Given the description of an element on the screen output the (x, y) to click on. 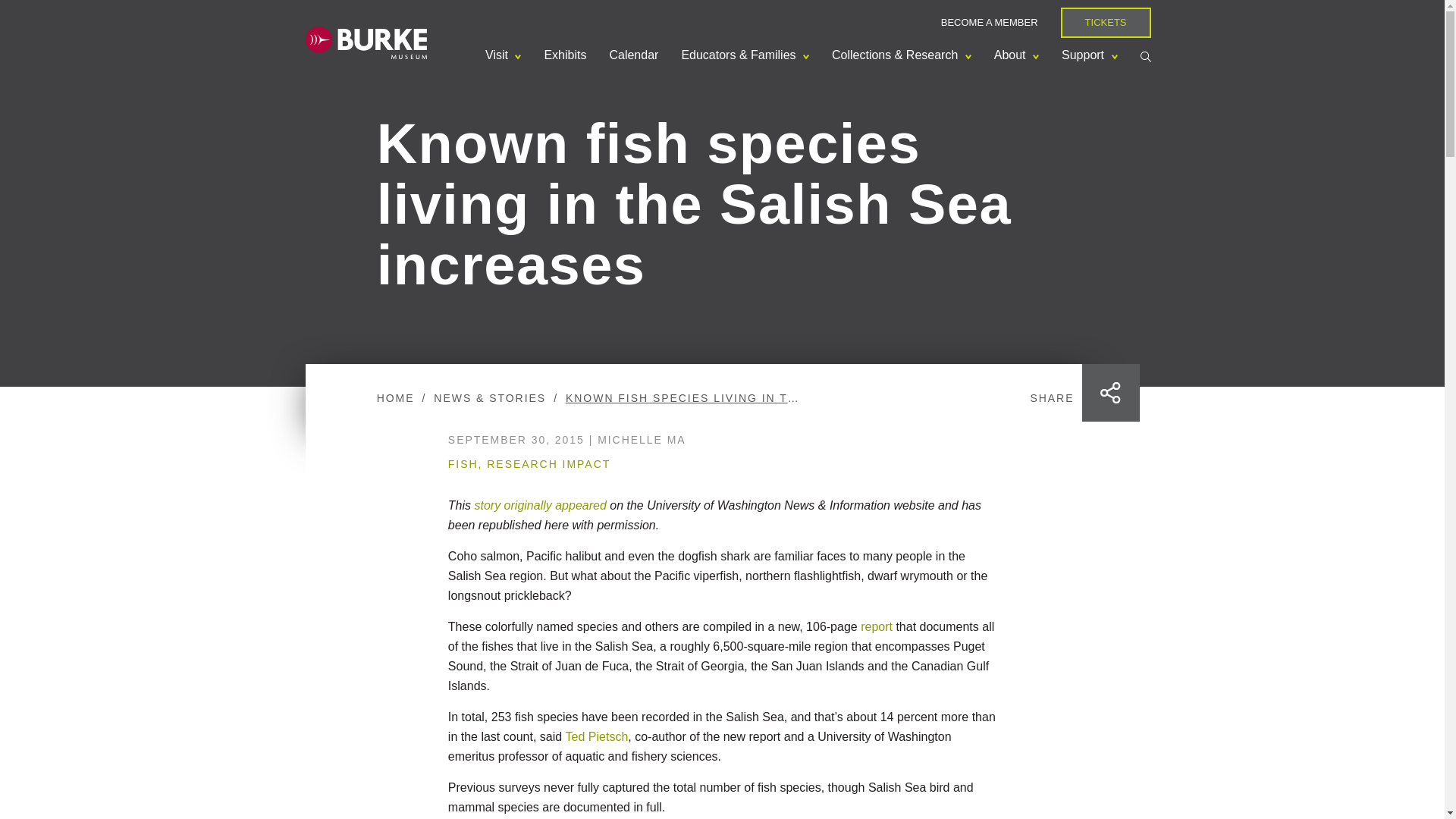
Calendar (632, 54)
BECOME A MEMBER (989, 21)
Home (365, 41)
Exhibits (564, 54)
Visit (503, 54)
TICKETS (1106, 22)
